Given the description of an element on the screen output the (x, y) to click on. 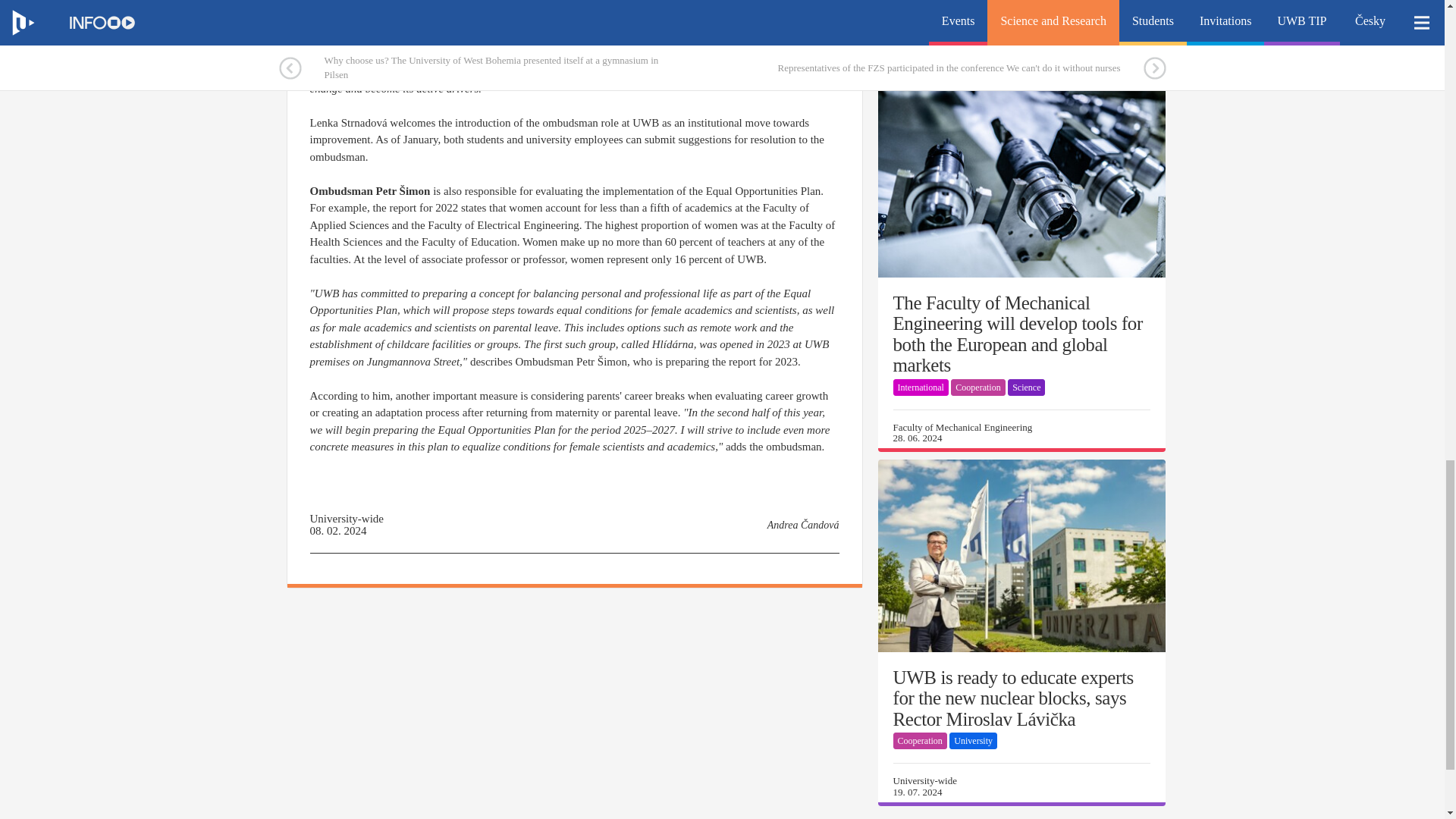
International (964, 12)
EUPeace (914, 12)
Cooperation (1022, 12)
